Given the description of an element on the screen output the (x, y) to click on. 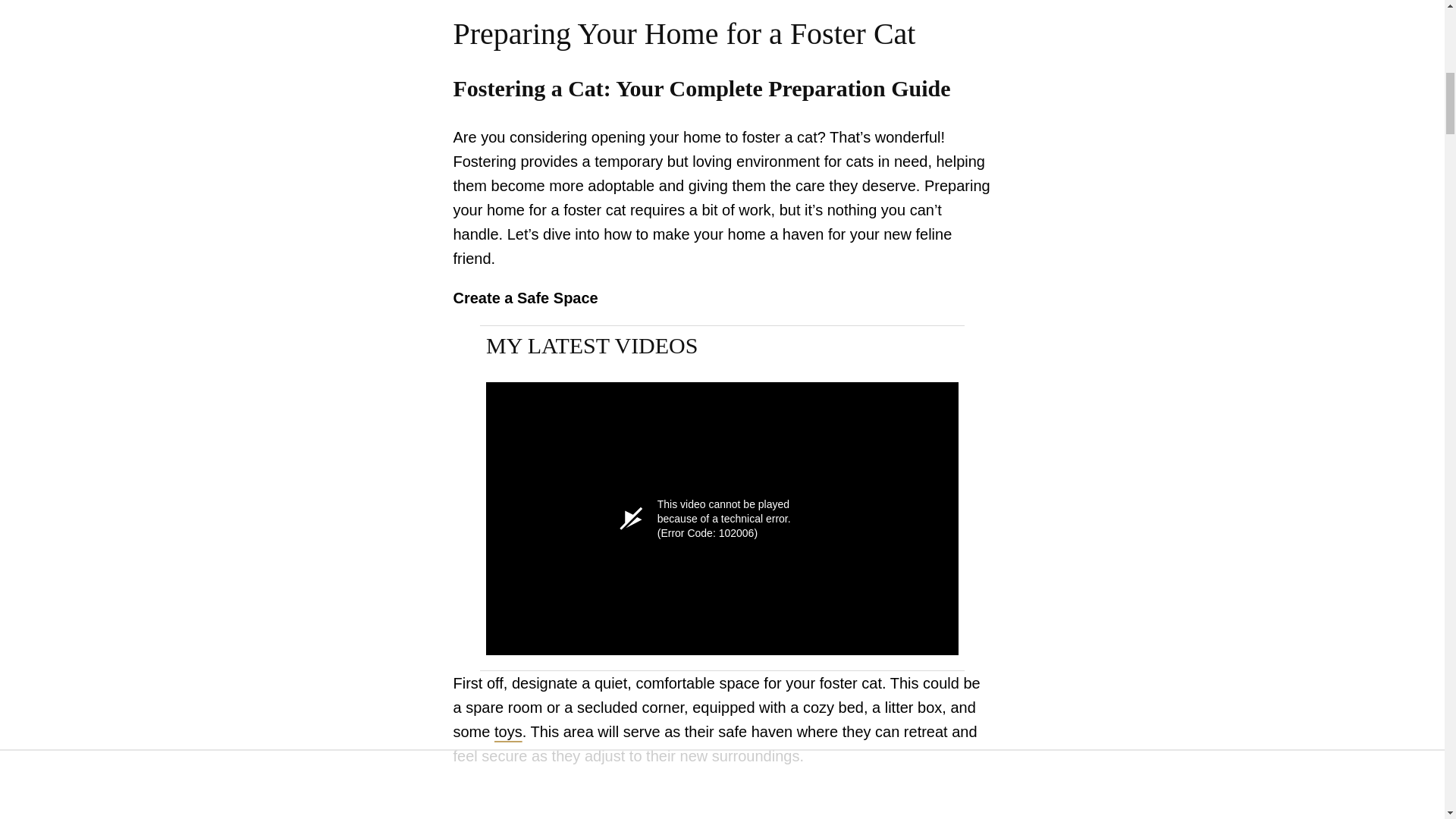
toys (508, 731)
